Given the description of an element on the screen output the (x, y) to click on. 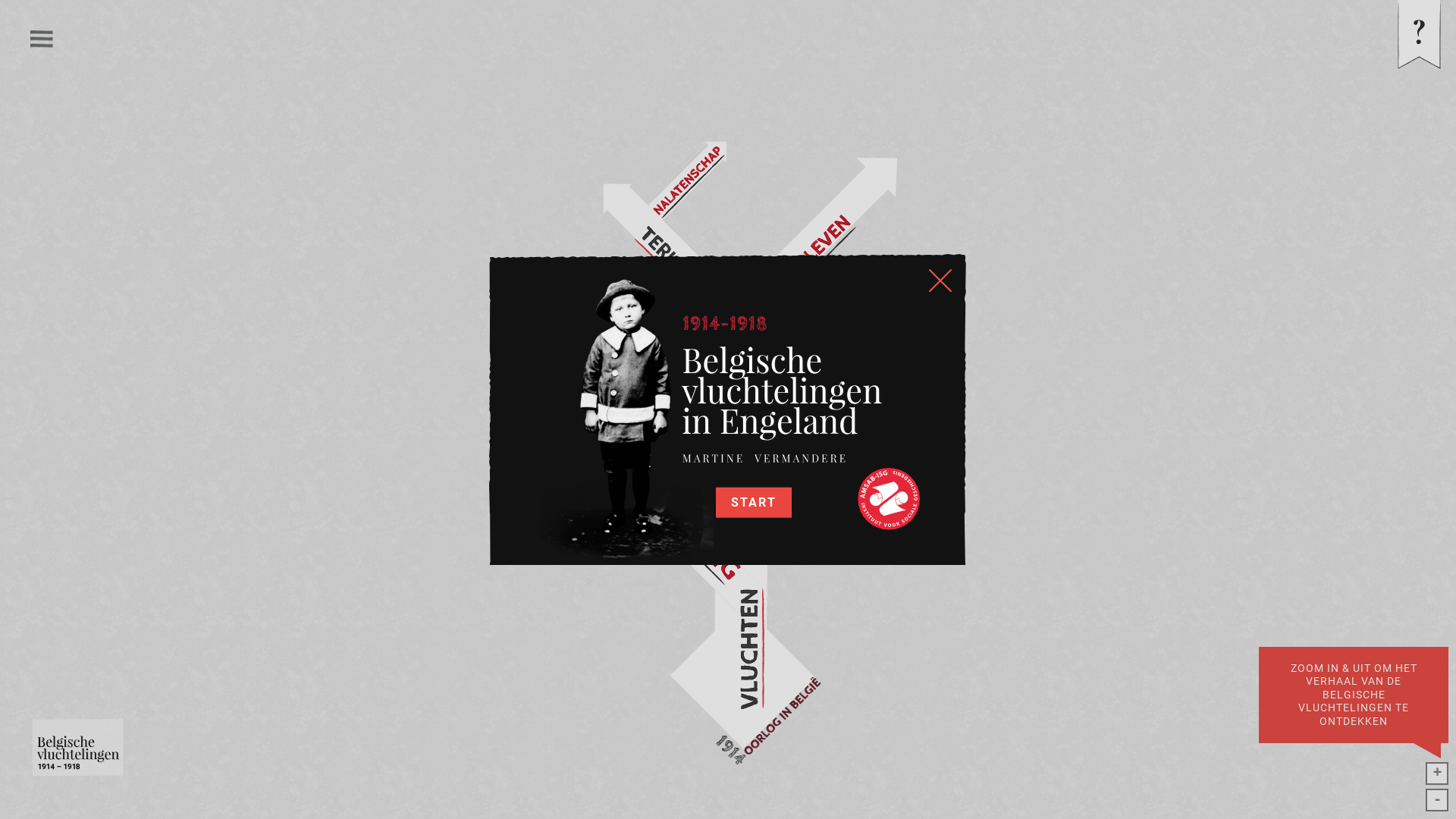
START Element type: text (753, 502)
- Element type: text (1436, 799)
+ Element type: text (1436, 773)
